Given the description of an element on the screen output the (x, y) to click on. 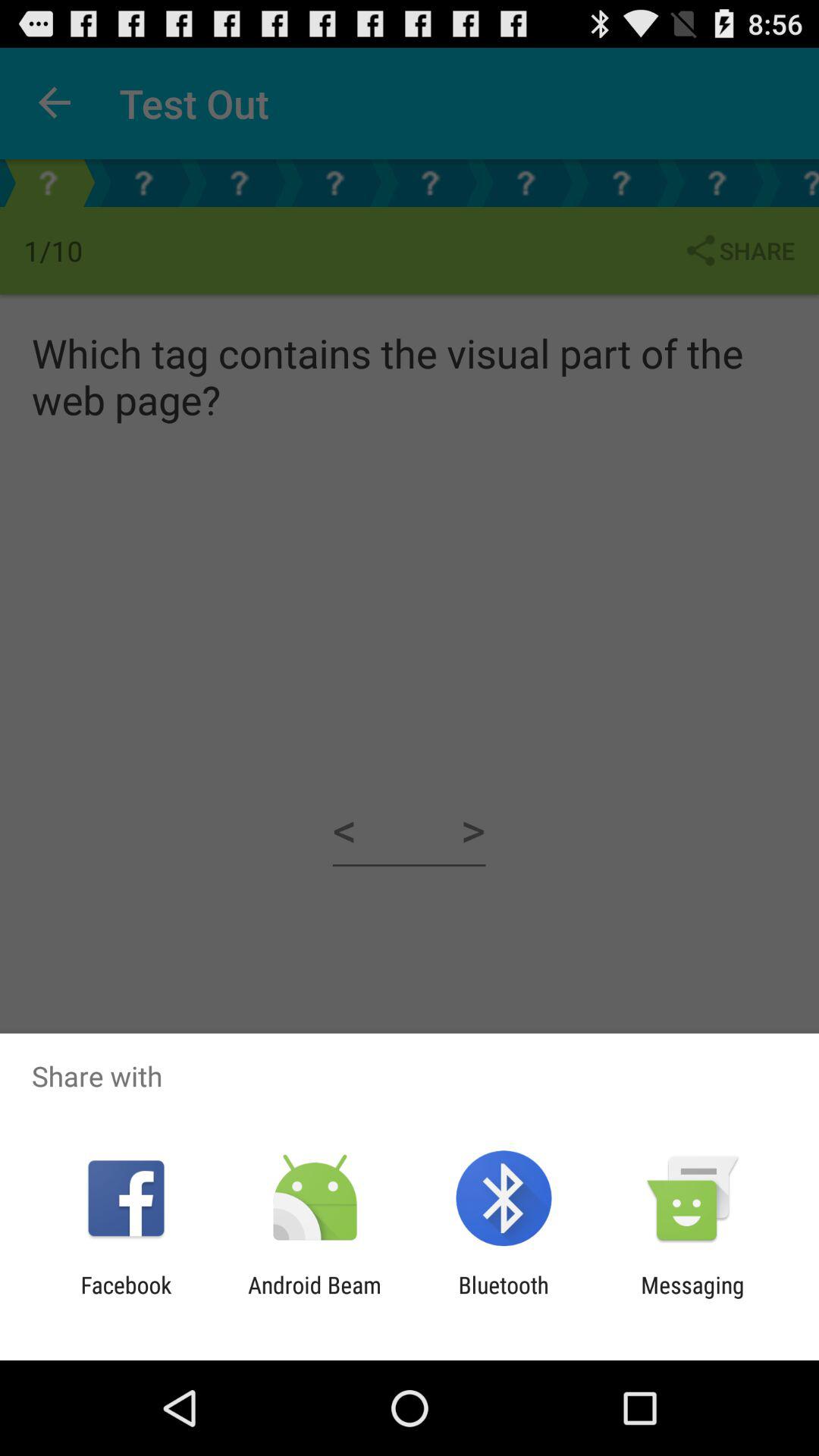
click app to the left of the android beam (125, 1298)
